Given the description of an element on the screen output the (x, y) to click on. 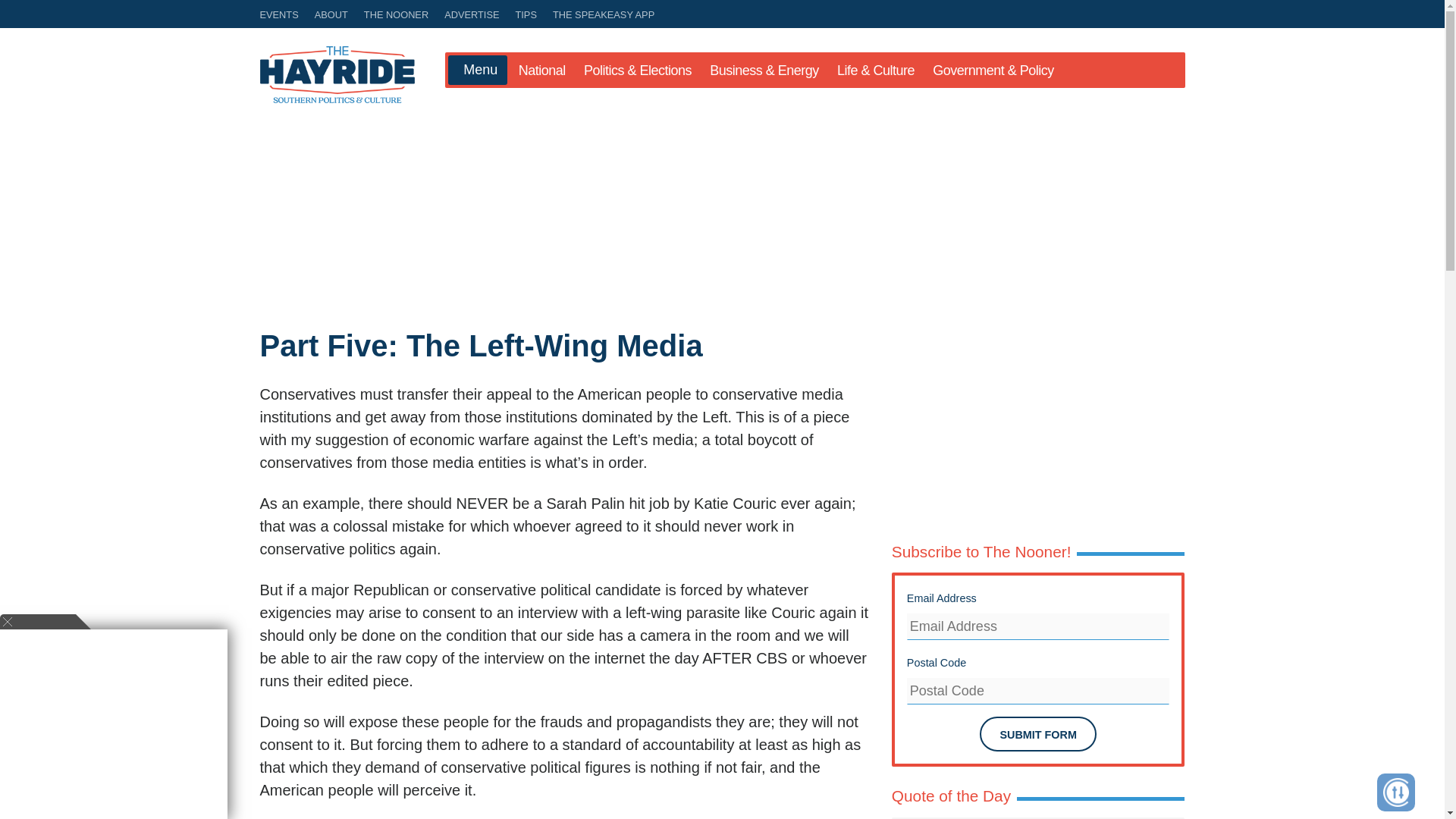
SUBMIT FORM (1037, 733)
3rd party ad content (1042, 435)
ABOUT (330, 14)
ADVERTISE (471, 14)
TIPS (526, 14)
National (541, 70)
THE NOONER (395, 14)
EVENTS (281, 14)
CookiePro Do Not Sell (1396, 792)
Menu (476, 70)
THE SPEAKEASY APP (600, 14)
